Given the description of an element on the screen output the (x, y) to click on. 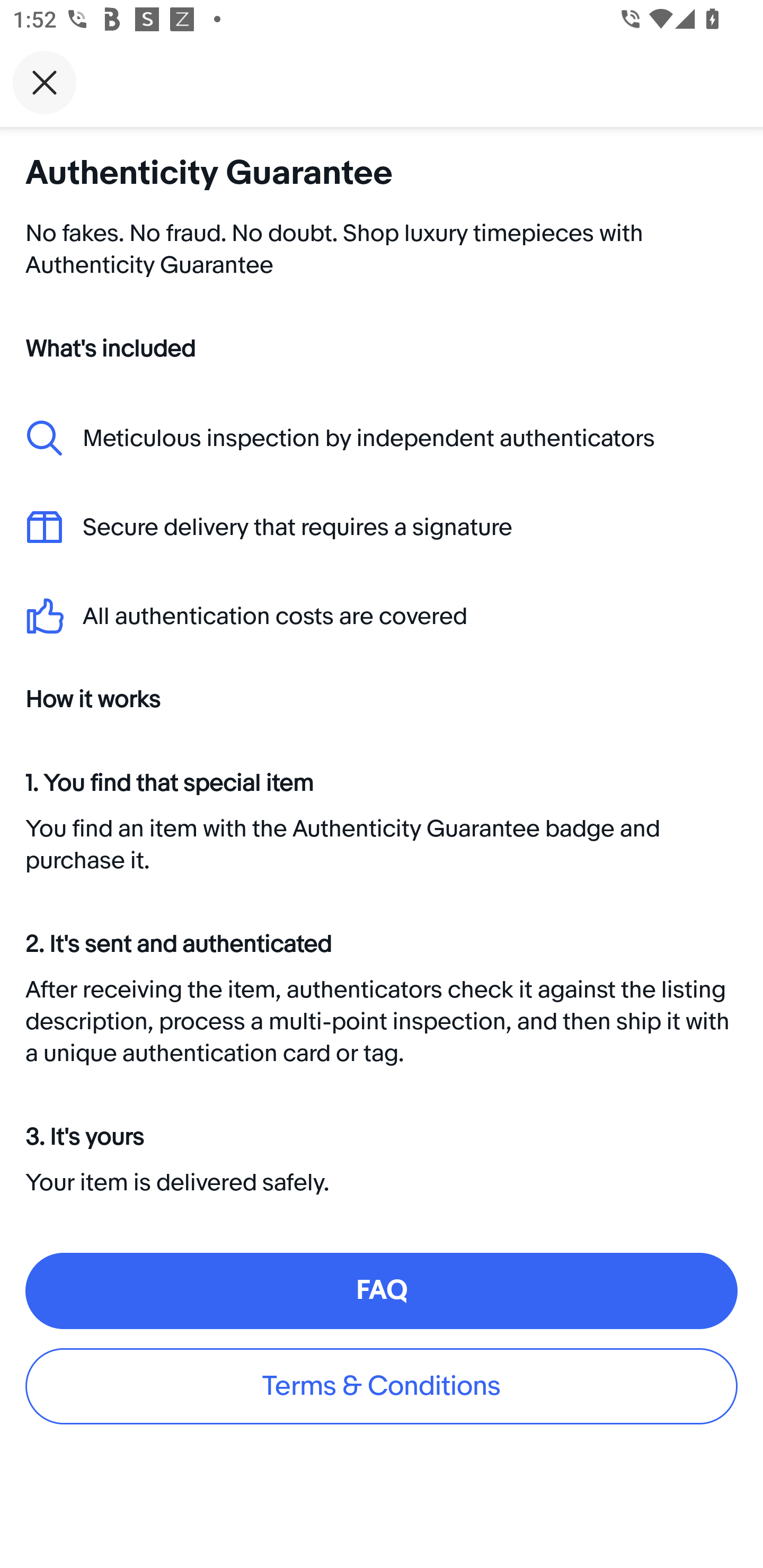
Close (44, 82)
FAQ (381, 1290)
Terms & Conditions (381, 1385)
